Given the description of an element on the screen output the (x, y) to click on. 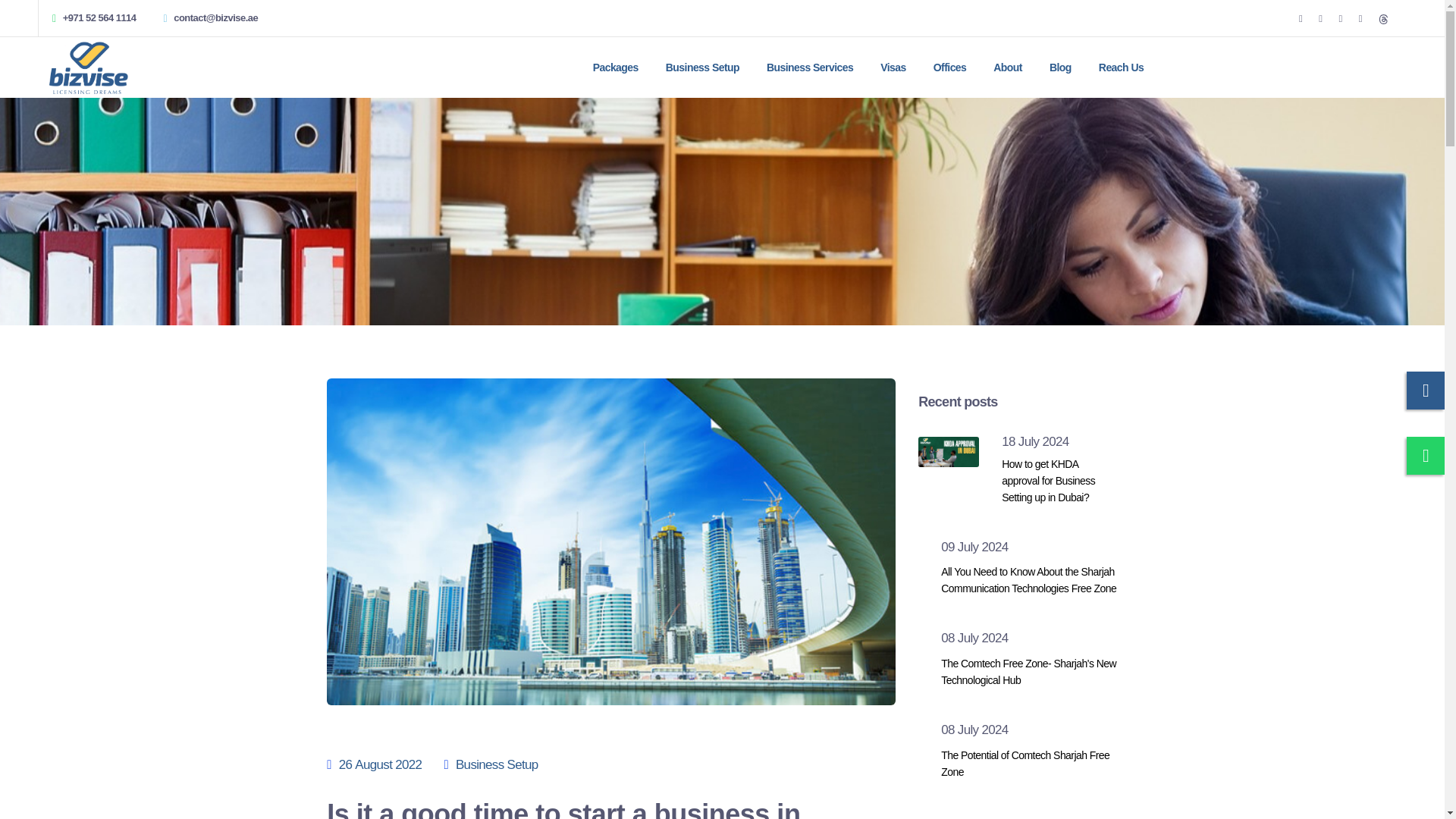
Business Services (810, 66)
